Given the description of an element on the screen output the (x, y) to click on. 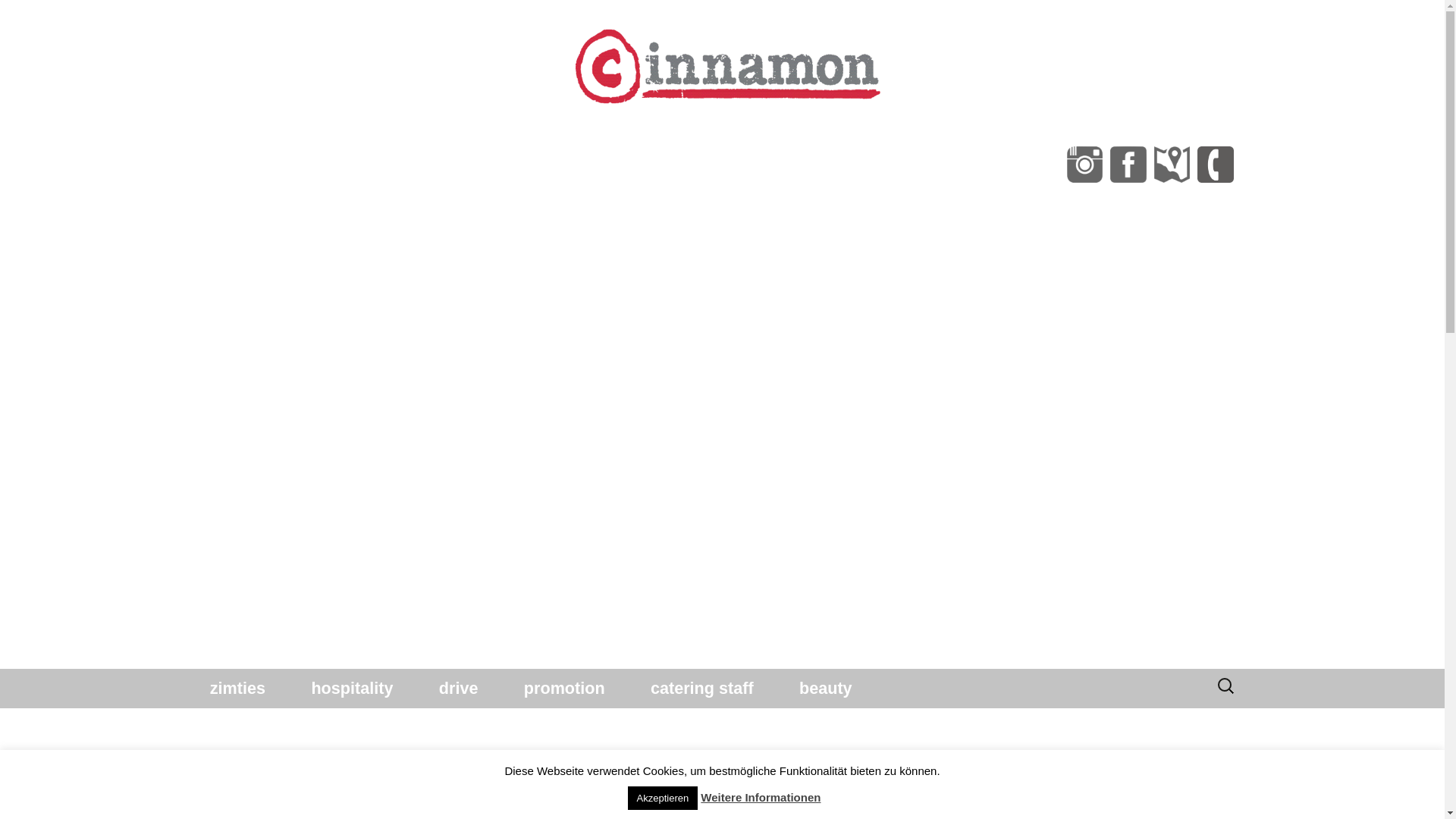
Springe zum Inhalt Element type: text (189, 668)
cinnamon Gmbh in Google Maps Element type: hover (1172, 164)
Seite der cinnamon GmbH auf facebook Element type: hover (1128, 164)
cinnamon GmbH bei instagram Element type: hover (1085, 164)
Suche Element type: text (33, 15)
beauty Element type: text (825, 688)
Akzeptieren Element type: text (662, 797)
promotion Element type: text (564, 688)
zimties Element type: text (237, 688)
hospitality Element type: text (351, 688)
 
 
  Element type: text (727, 126)
drive Element type: text (458, 688)
Weitere Informationen Element type: text (760, 797)
catering staff Element type: text (702, 688)
Suche Element type: text (18, 23)
